Given the description of an element on the screen output the (x, y) to click on. 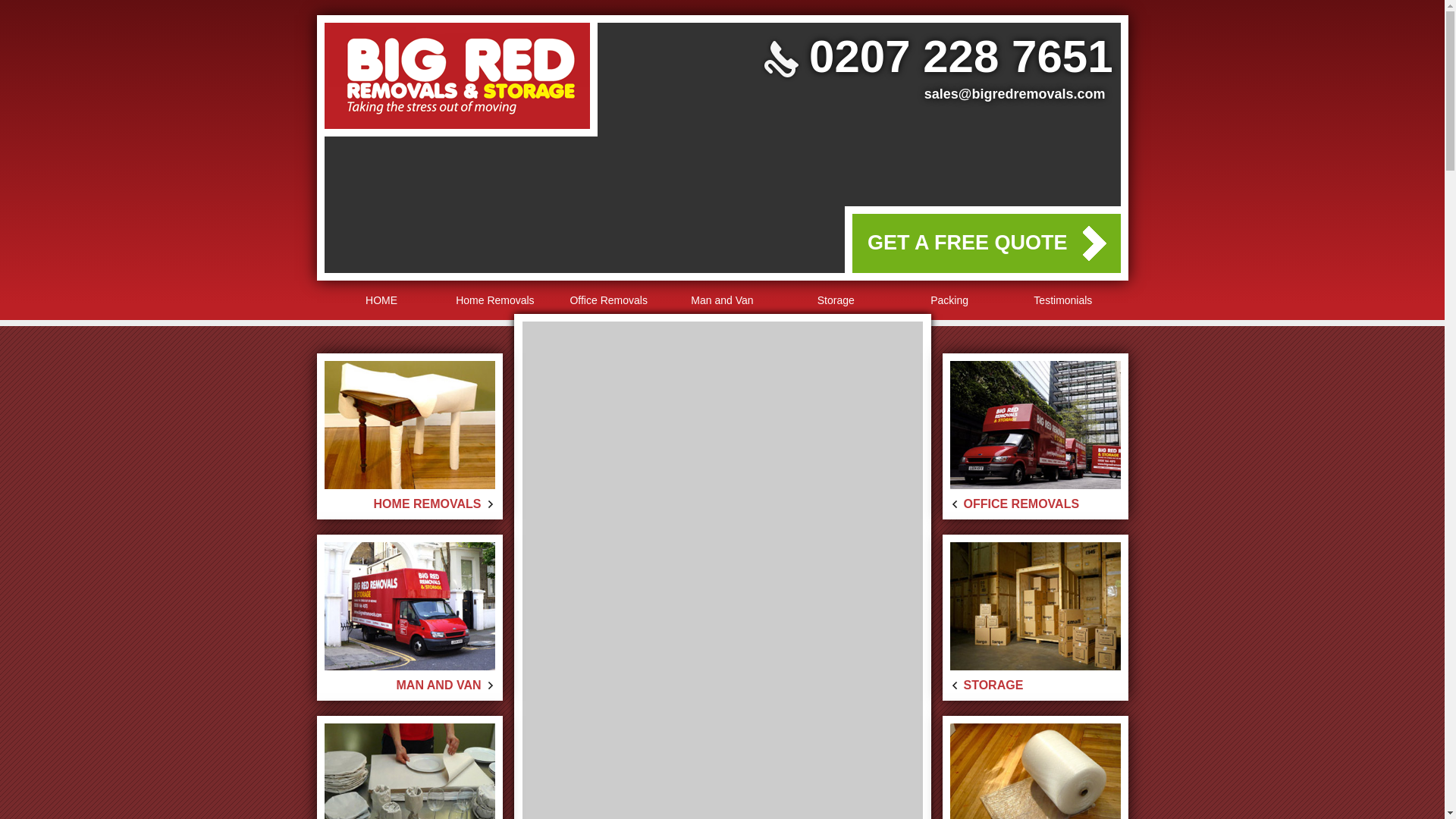
Storage (835, 300)
Read more... (1067, 430)
Office Removals (608, 300)
GET A QUOTE (998, 644)
GET A FREE QUOTE (986, 242)
Read more... (397, 430)
GET A QUOTE (445, 814)
GET A QUOTE (445, 463)
GET A QUOTE (445, 644)
Home Removals (494, 300)
GET A QUOTE (998, 644)
GET A QUOTE (998, 463)
Read more... (1064, 792)
Read more... (1064, 611)
GET A QUOTE (445, 463)
